Given the description of an element on the screen output the (x, y) to click on. 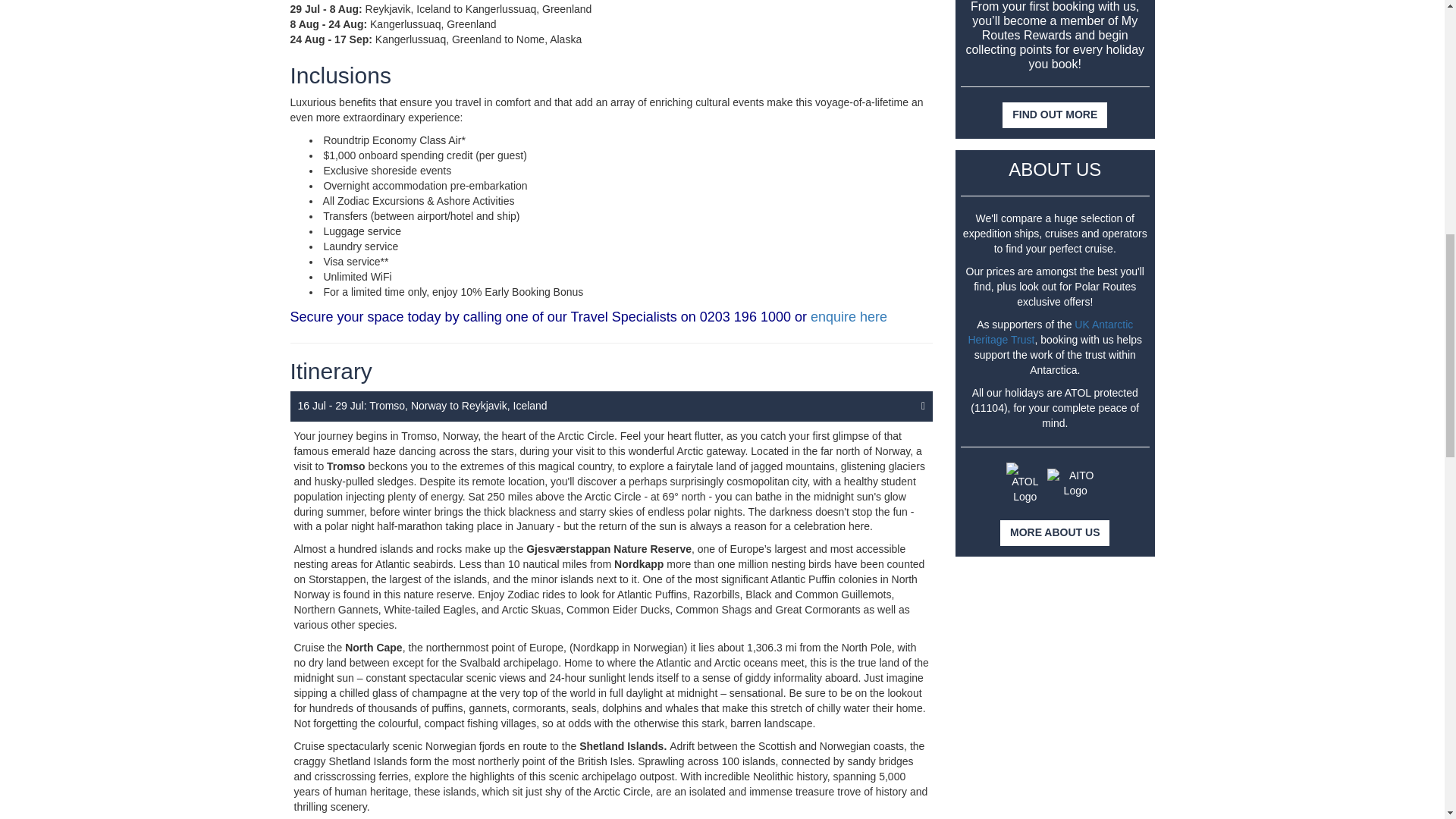
Association of Independent Tour Operators (1074, 483)
ATOL (1024, 483)
